Given the description of an element on the screen output the (x, y) to click on. 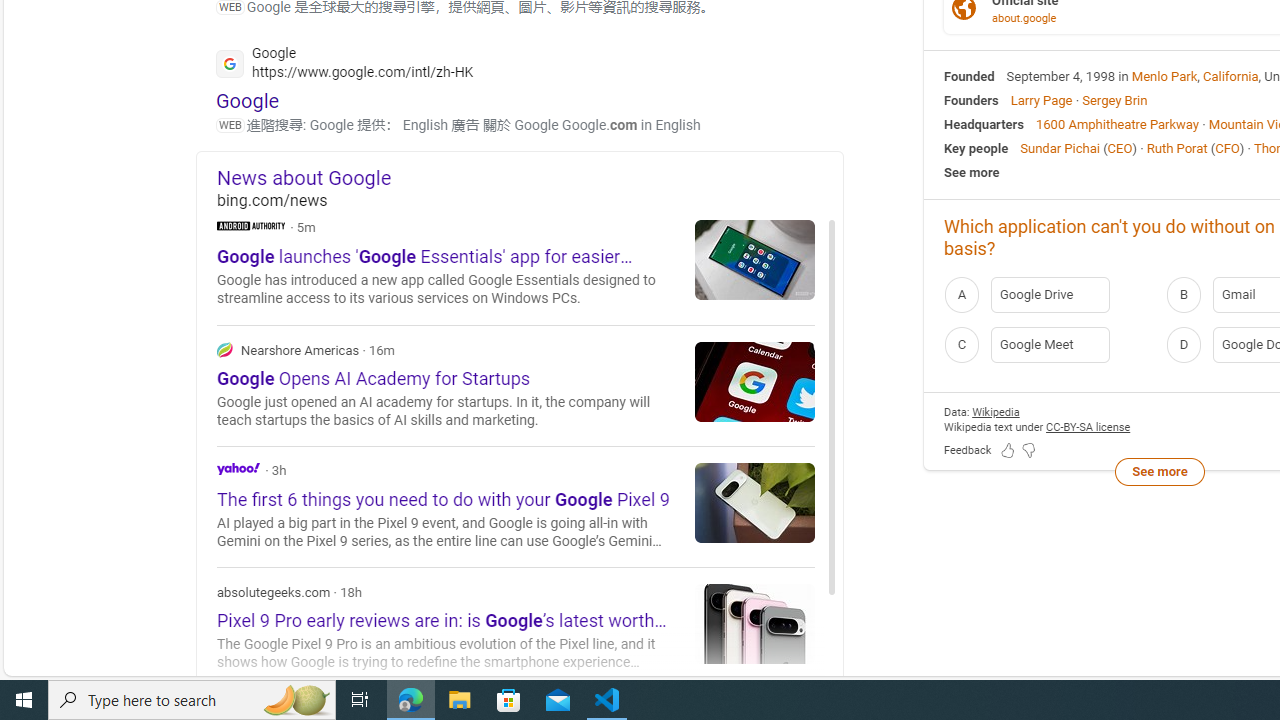
bing.com/news (530, 199)
Sundar Pichai (1059, 147)
Google Opens AI Academy for Startups (755, 381)
News about Google (530, 177)
CC-BY-SA license (1088, 426)
Ruth Porat (1176, 147)
Yahoo (516, 506)
Sergey Brin (1114, 100)
CEO (1119, 147)
See more (1159, 471)
Nearshore Americas (224, 349)
